Given the description of an element on the screen output the (x, y) to click on. 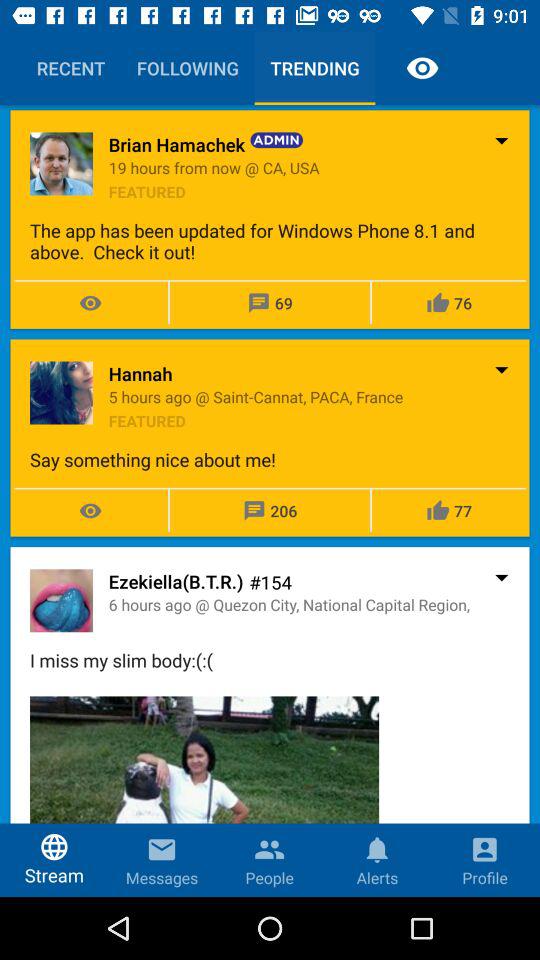
flip until the app has item (269, 241)
